Given the description of an element on the screen output the (x, y) to click on. 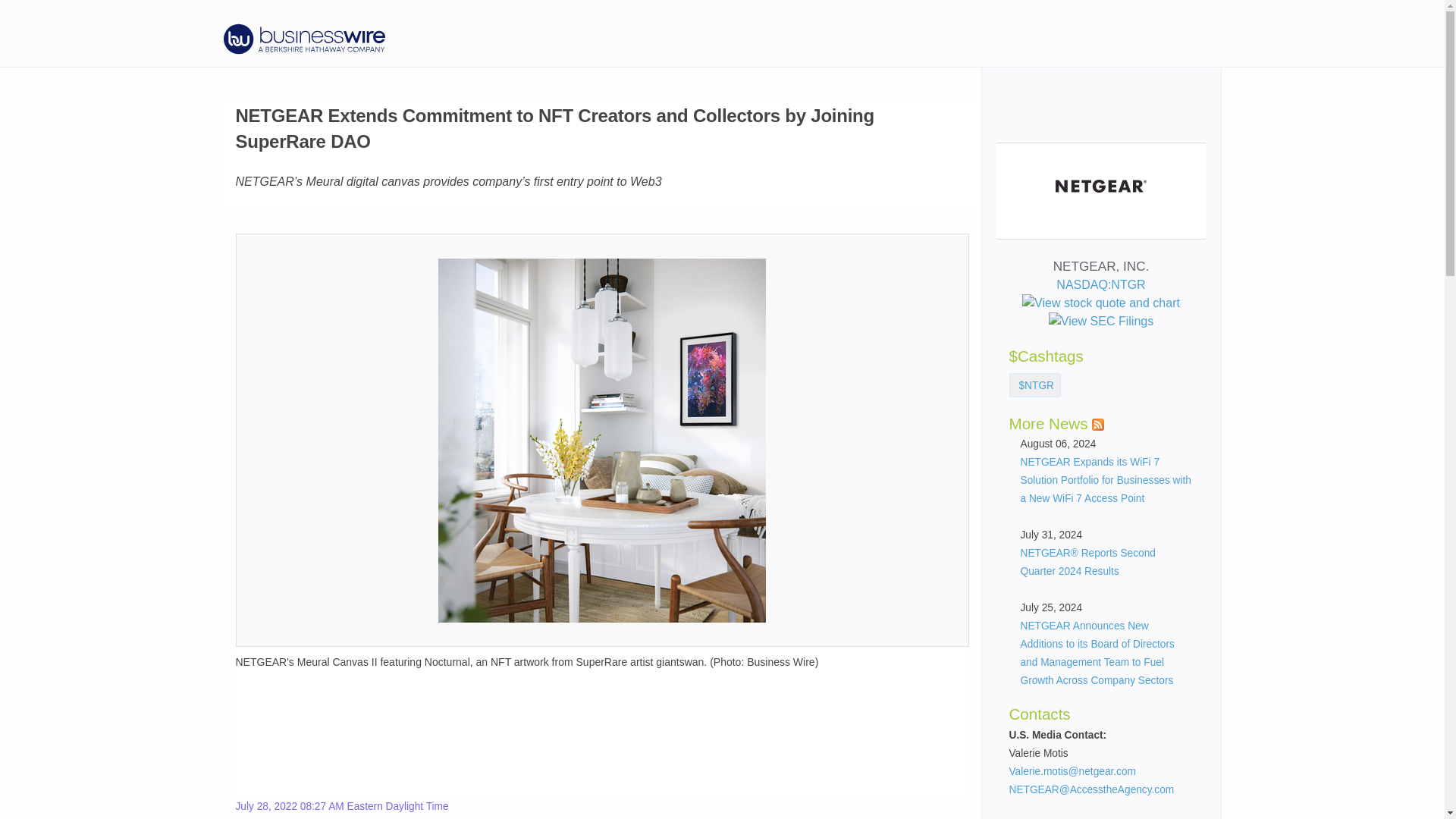
NASDAQ:NTGR (1100, 293)
View stock quote and chart (1100, 303)
